Given the description of an element on the screen output the (x, y) to click on. 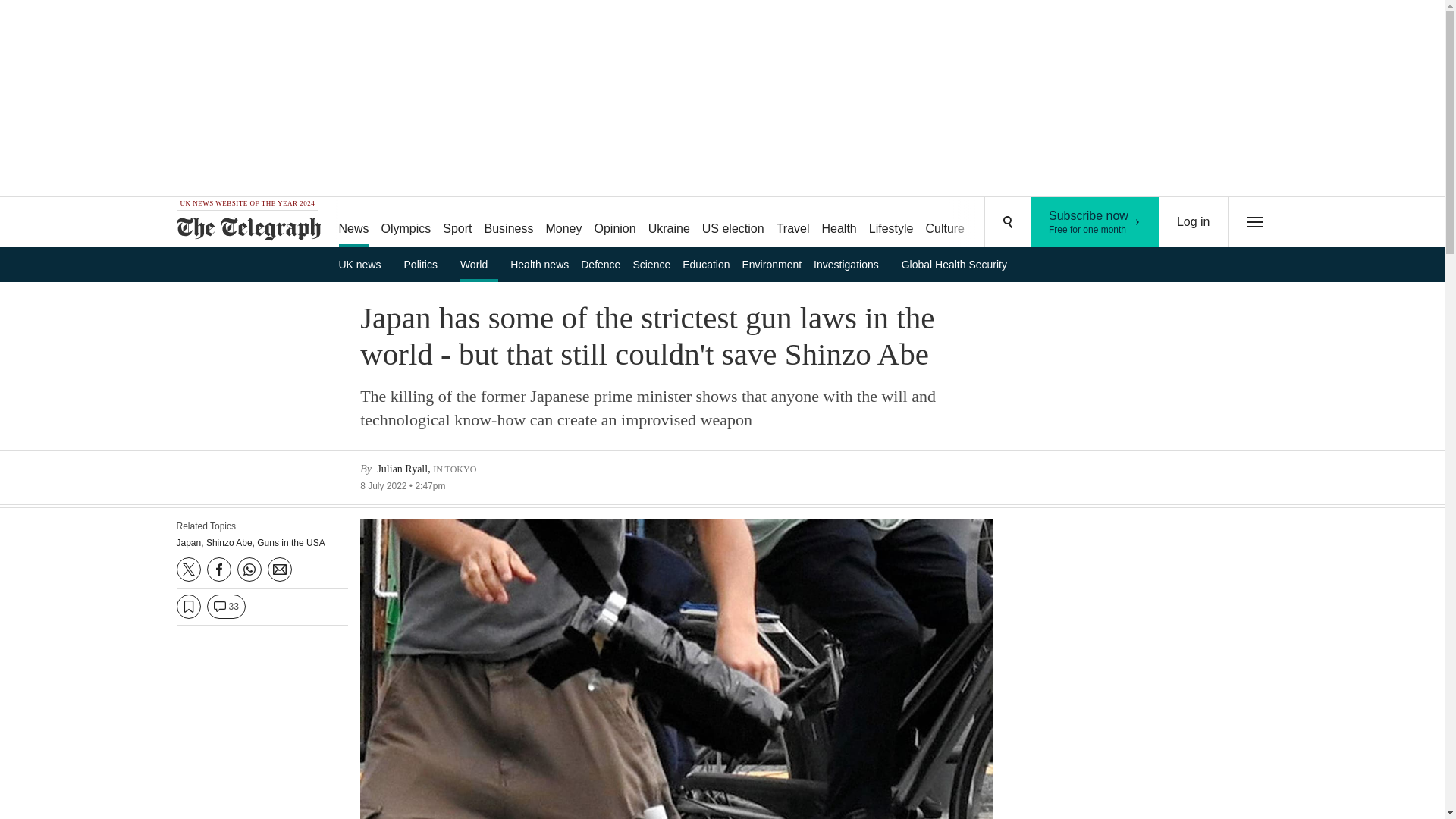
Olympics (406, 223)
Business (509, 223)
UK news (364, 264)
US election (732, 223)
Money (563, 223)
Log in (1193, 222)
Ukraine (668, 223)
World (478, 264)
Travel (792, 223)
Lifestyle (891, 223)
